Given the description of an element on the screen output the (x, y) to click on. 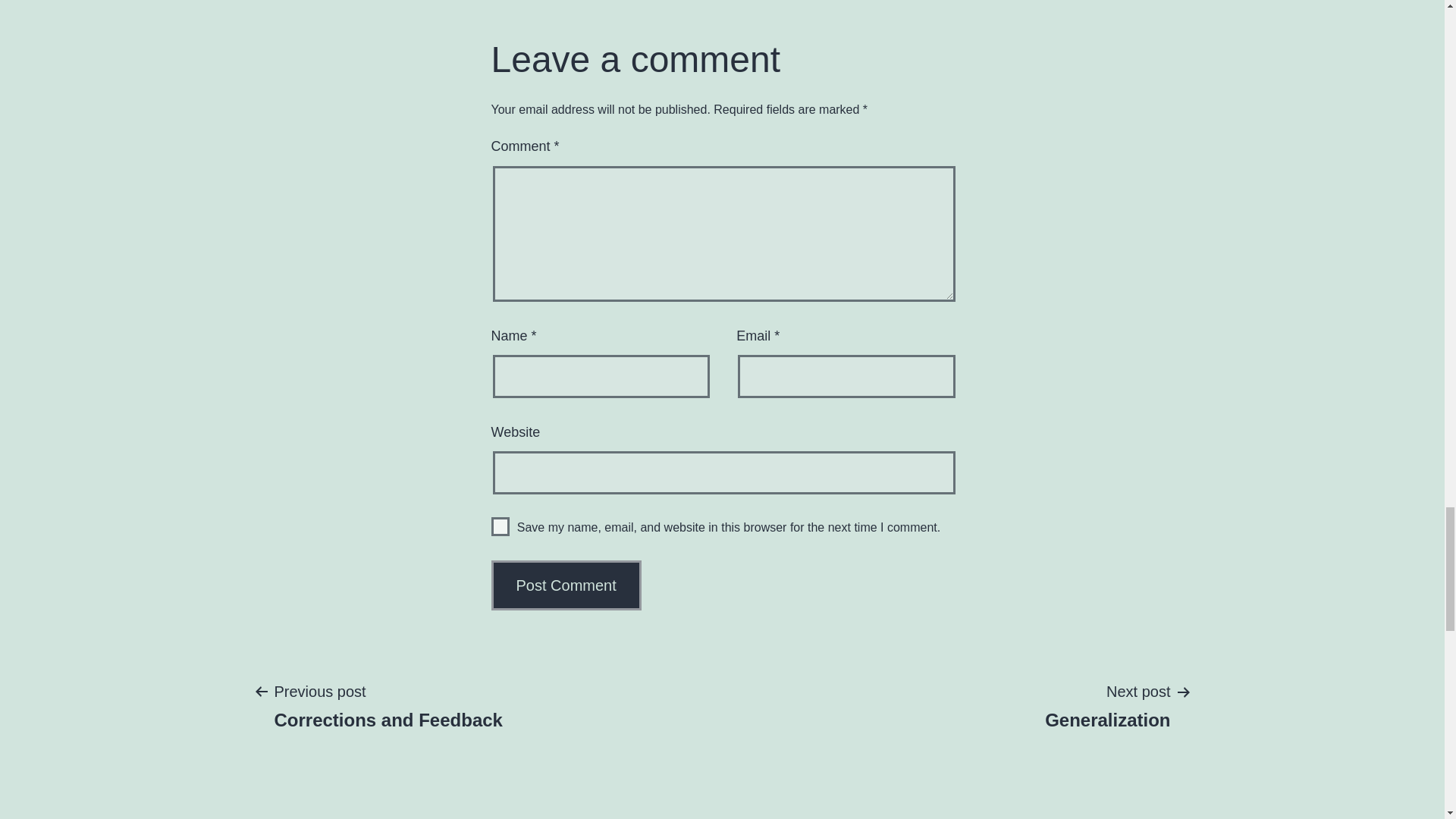
yes (500, 526)
Post Comment (567, 585)
Post Comment (387, 705)
